Given the description of an element on the screen output the (x, y) to click on. 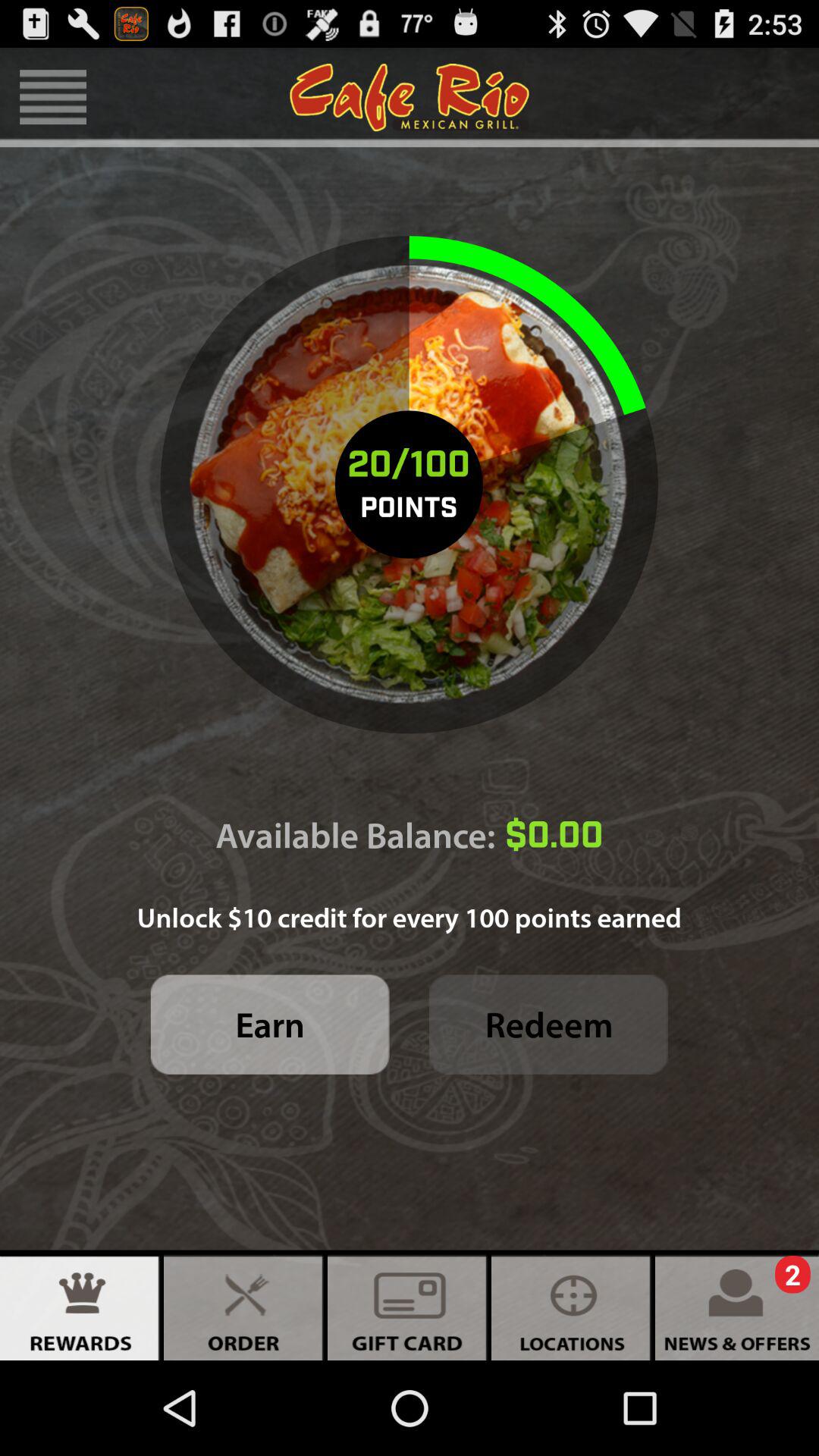
turn on earn icon (269, 1024)
